Given the description of an element on the screen output the (x, y) to click on. 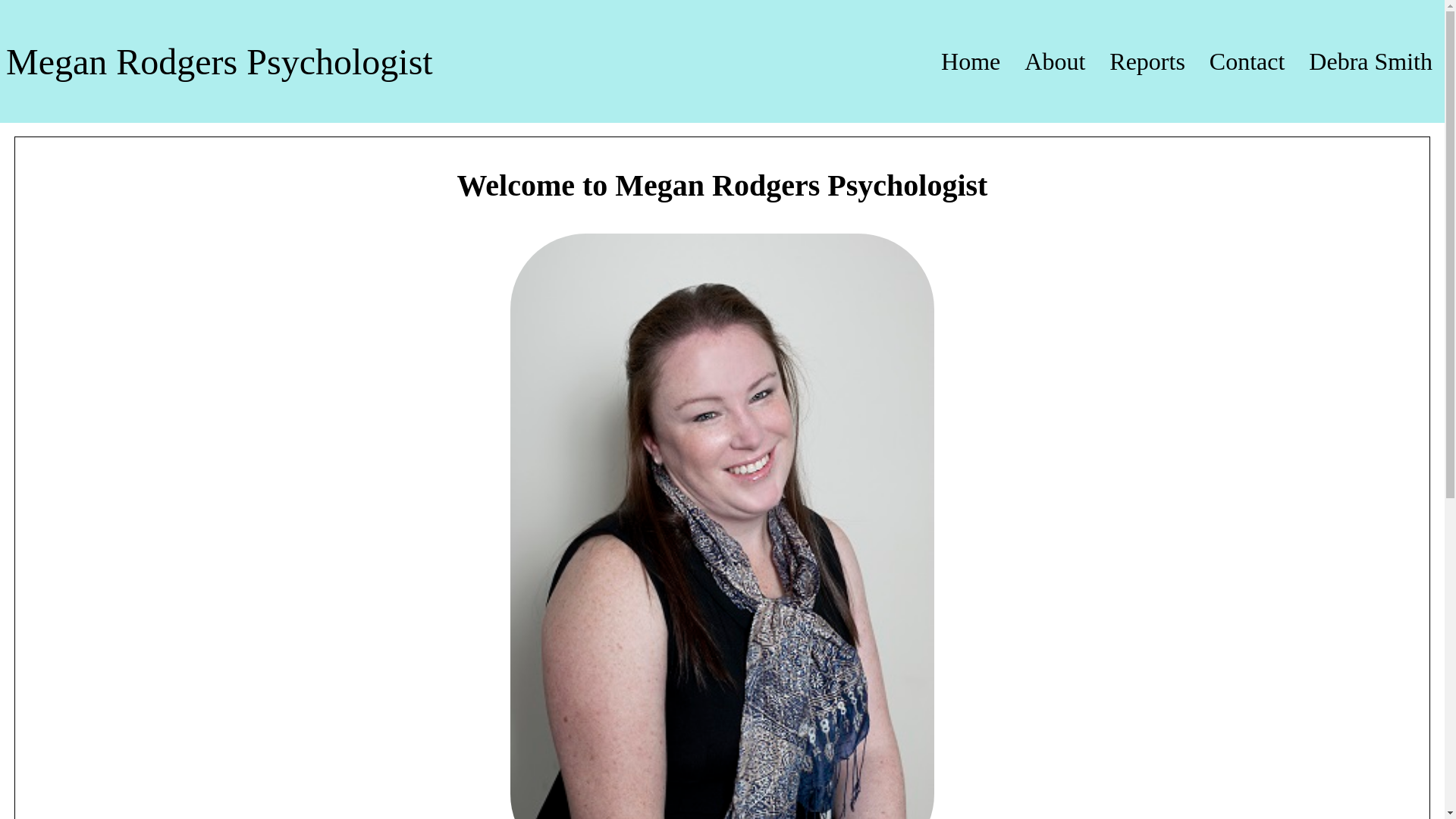
Contact Element type: text (1247, 60)
Home Element type: text (970, 60)
About Element type: text (1054, 60)
Debra Smith Element type: text (1370, 60)
Reports Element type: text (1147, 60)
